Given the description of an element on the screen output the (x, y) to click on. 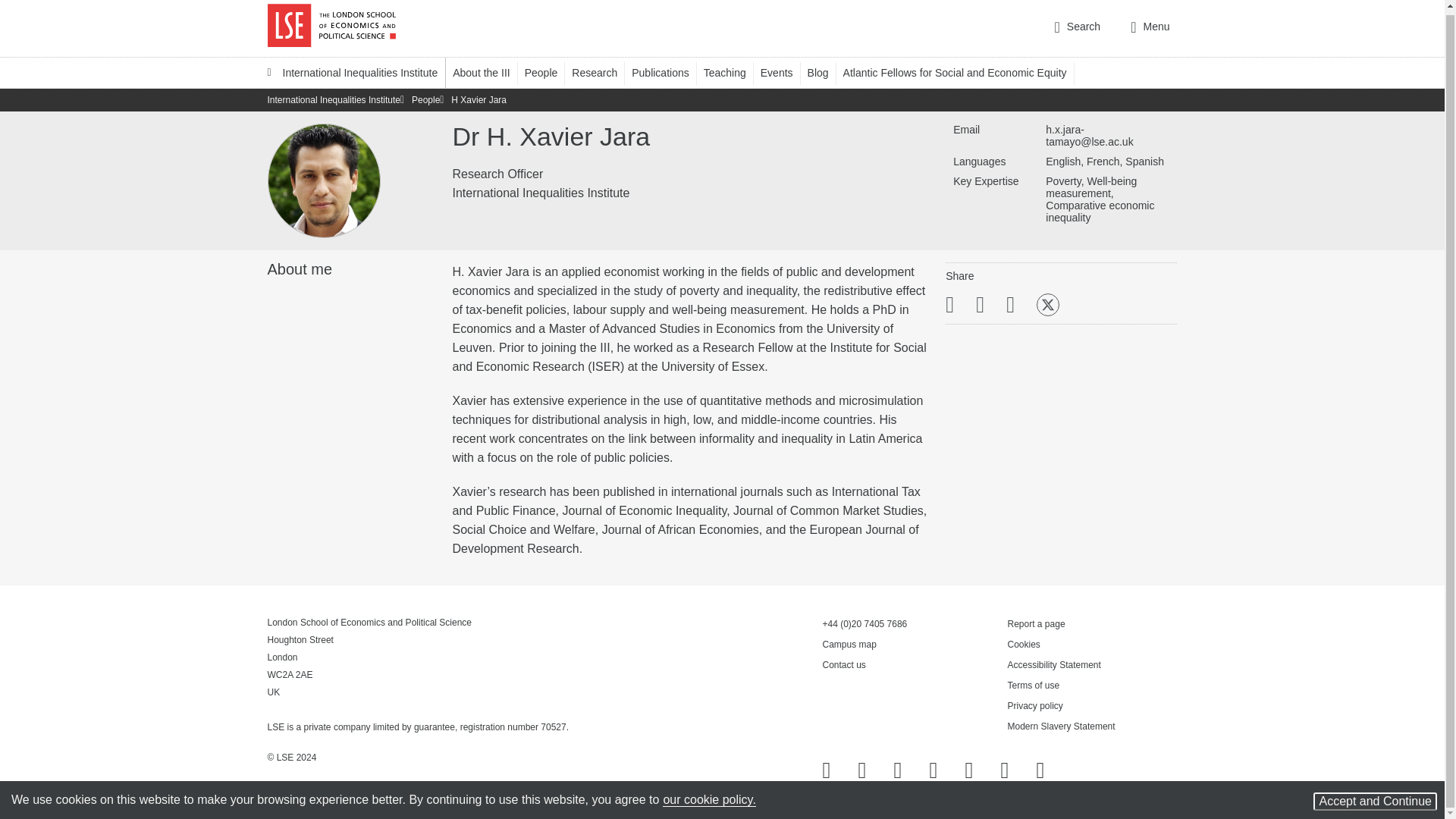
People (548, 72)
People (548, 72)
Menu (1150, 28)
International Inequalities Institute (352, 72)
Publications (667, 72)
Search (1077, 28)
our cookie policy. (708, 796)
Teaching (731, 72)
Publications (667, 72)
Blog (825, 72)
Atlantic Fellows for Social and Economic Equity (962, 72)
Accept and Continue (1375, 797)
Atlantic Fellows for Social and Economic Equity (962, 72)
Research (601, 72)
Events (784, 72)
